Given the description of an element on the screen output the (x, y) to click on. 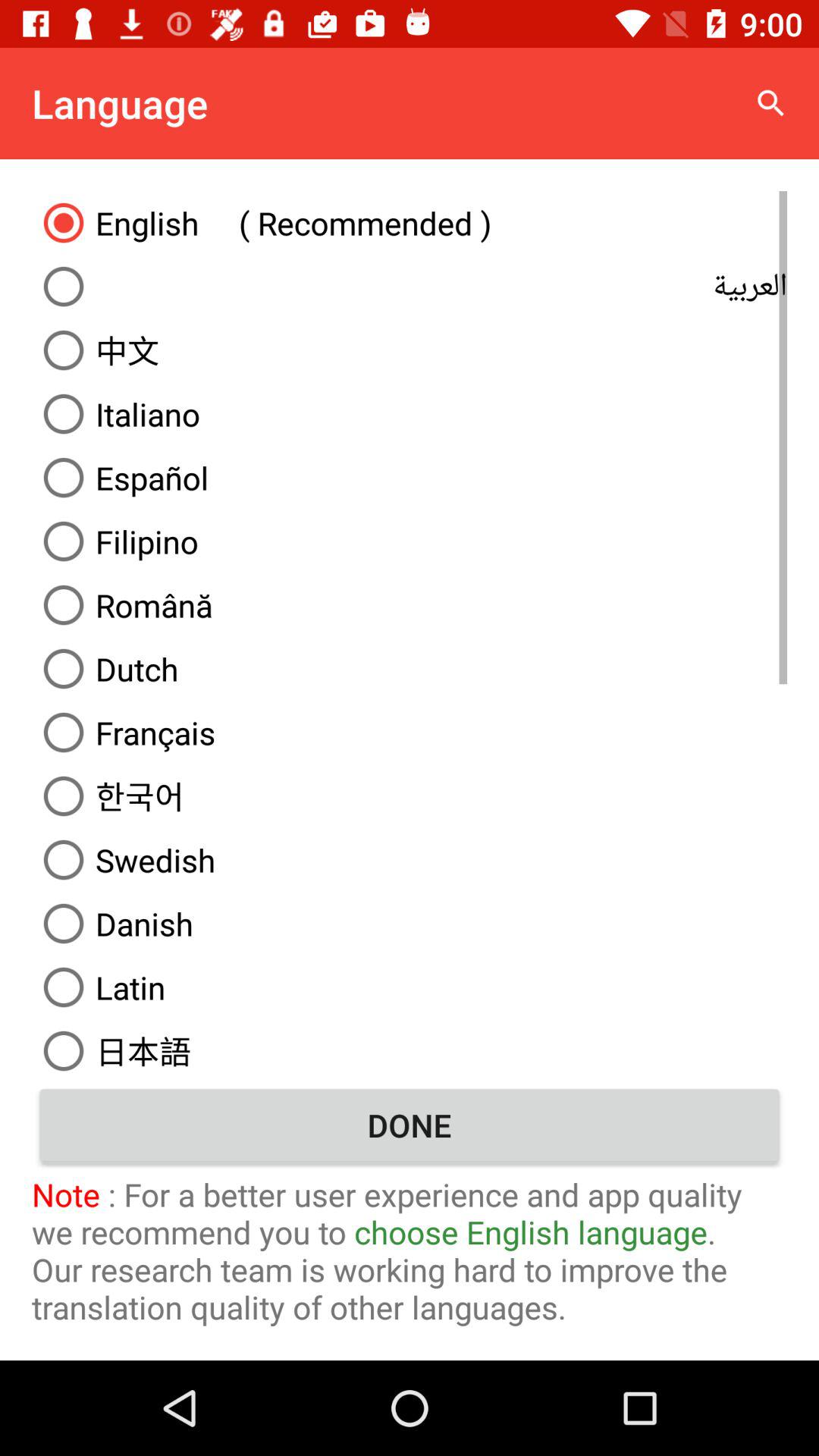
jump until the dutch (409, 668)
